Given the description of an element on the screen output the (x, y) to click on. 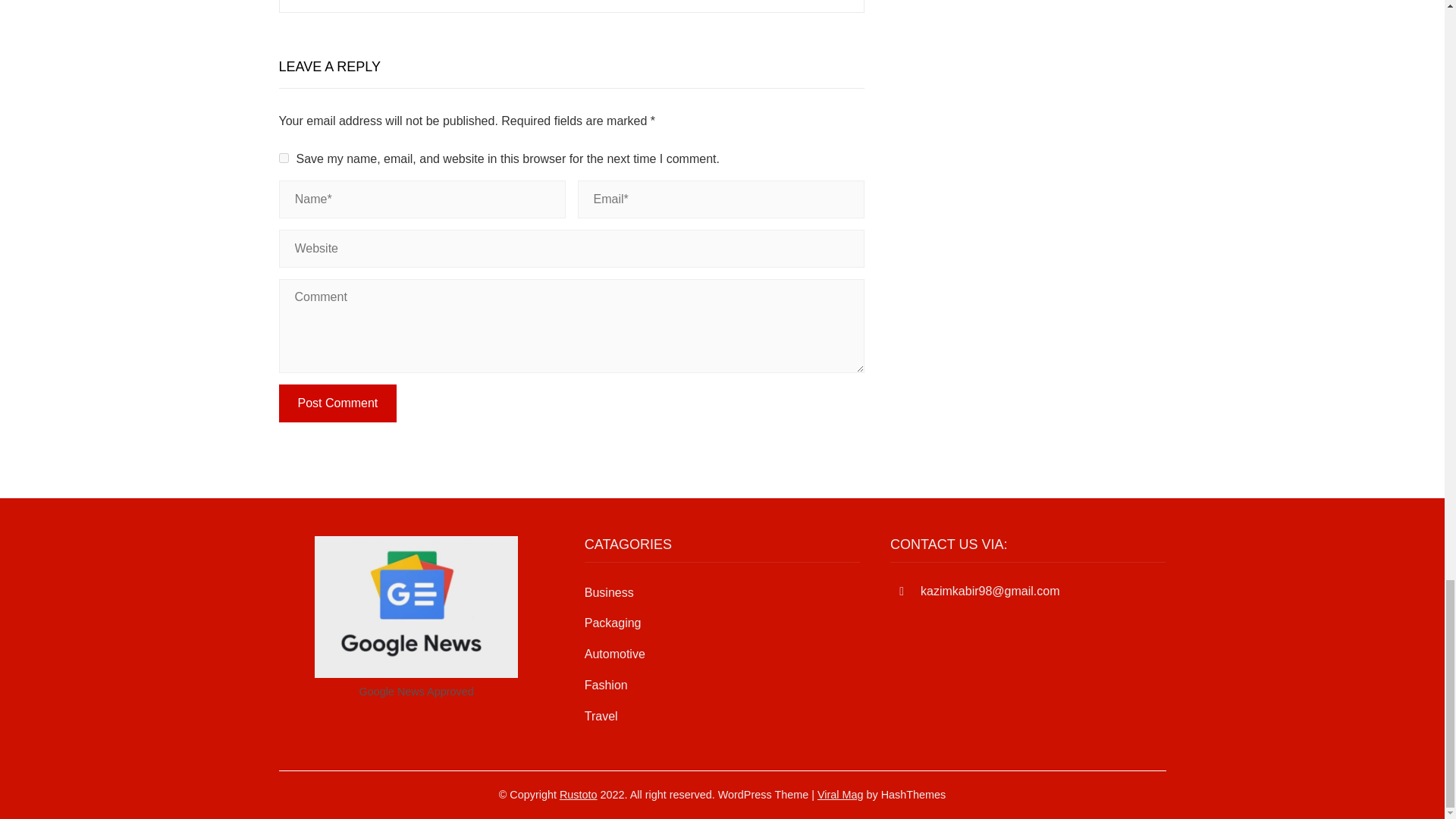
Download Viral News (839, 794)
Post Comment (338, 403)
yes (283, 157)
